Given the description of an element on the screen output the (x, y) to click on. 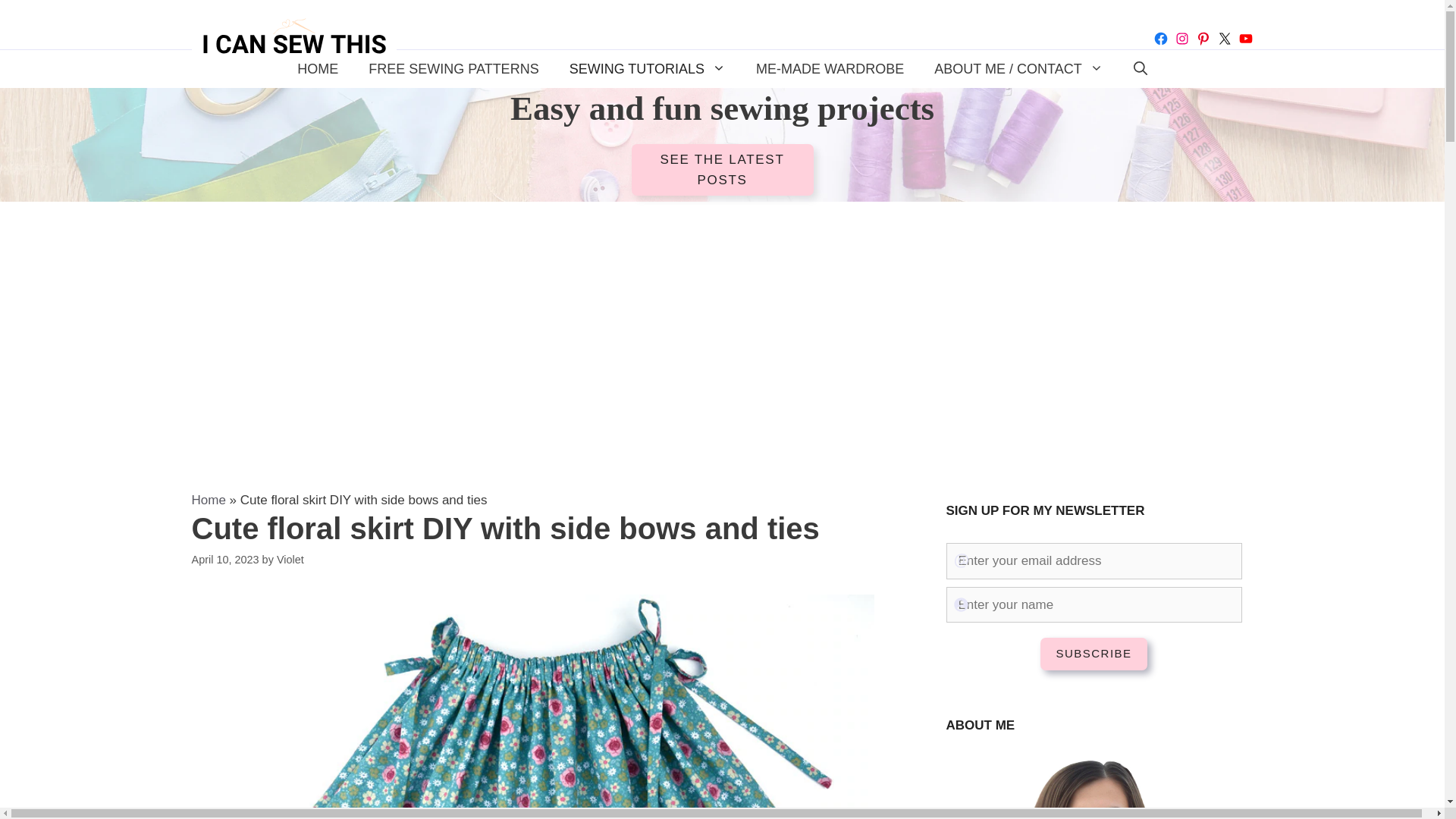
SEWING TUTORIALS (647, 68)
YouTube (1244, 38)
Instagram (1181, 38)
FREE SEWING PATTERNS (453, 68)
HOME (317, 68)
Pinterest (1202, 38)
X (1223, 38)
Facebook (1160, 38)
View all posts by Violet (290, 559)
Subscribe (1094, 654)
